Given the description of an element on the screen output the (x, y) to click on. 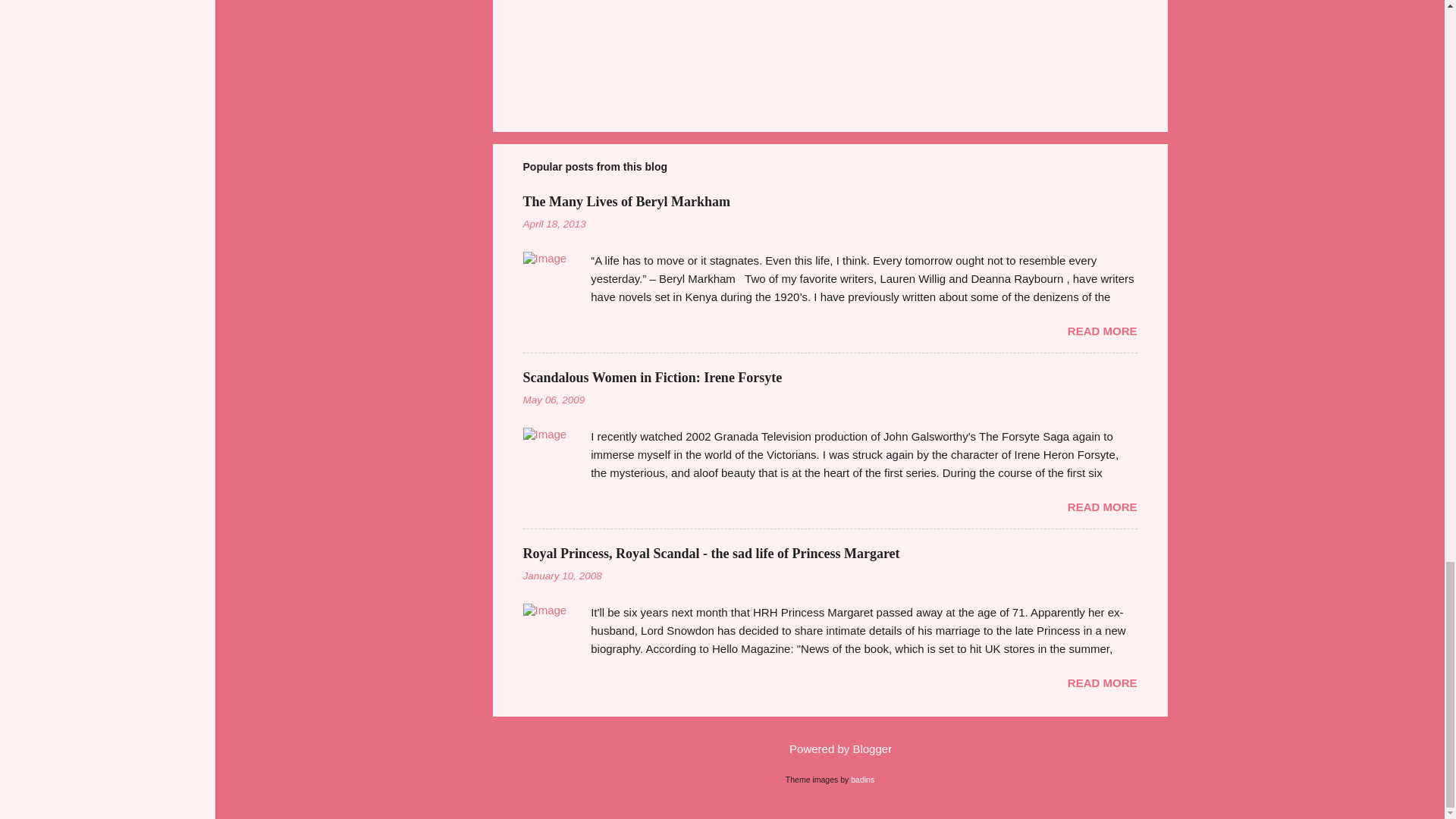
January 10, 2008 (562, 575)
READ MORE (1102, 682)
The Many Lives of Beryl Markham (626, 201)
Powered by Blogger (829, 748)
May 06, 2009 (553, 399)
READ MORE (1102, 506)
April 18, 2013 (554, 224)
READ MORE (1102, 330)
Scandalous Women in Fiction: Irene Forsyte (652, 377)
badins (862, 778)
